Given the description of an element on the screen output the (x, y) to click on. 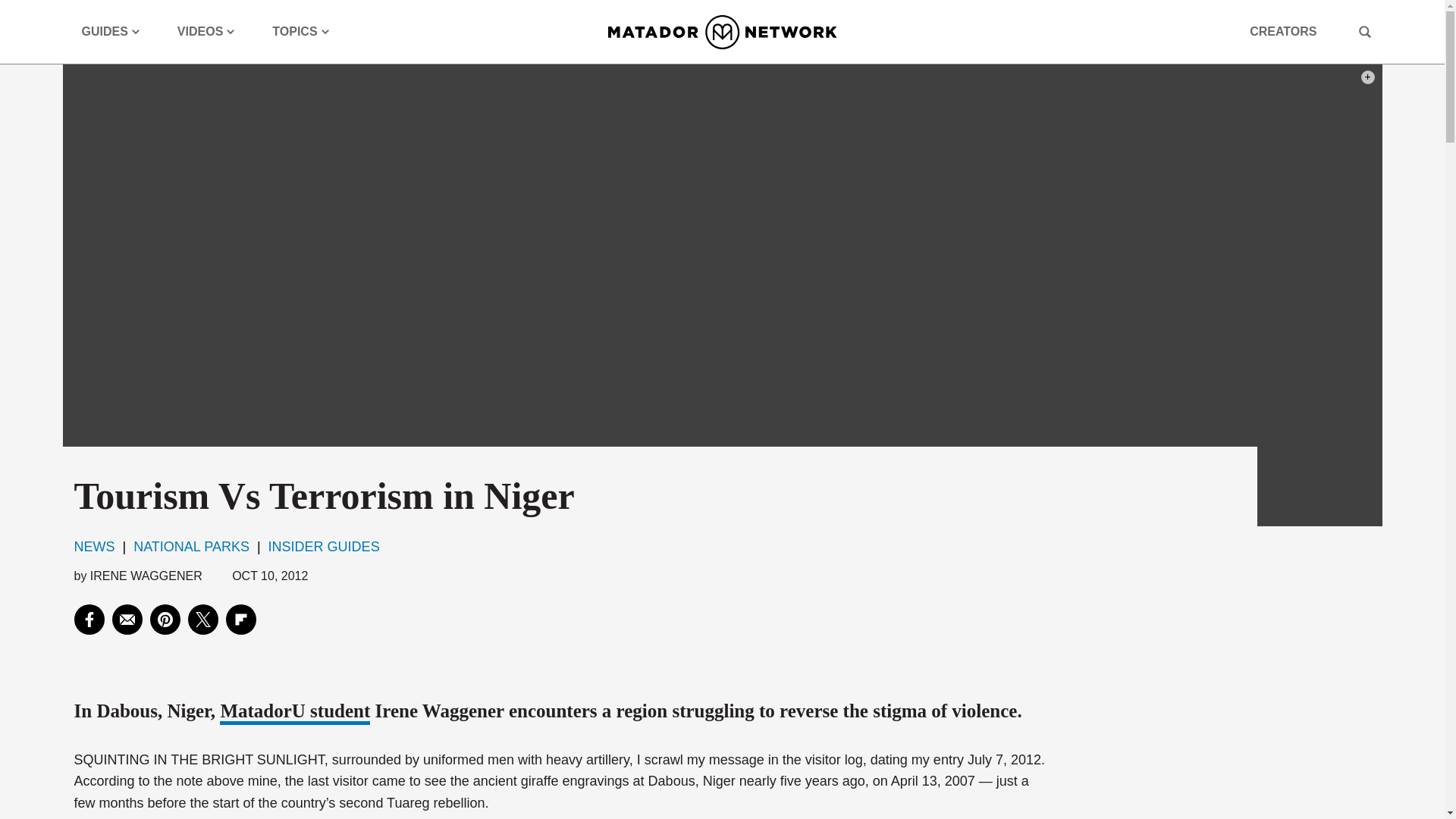
CREATORS (1282, 31)
GUIDES (110, 31)
VIDEOS (205, 31)
TOPICS (300, 31)
